Given the description of an element on the screen output the (x, y) to click on. 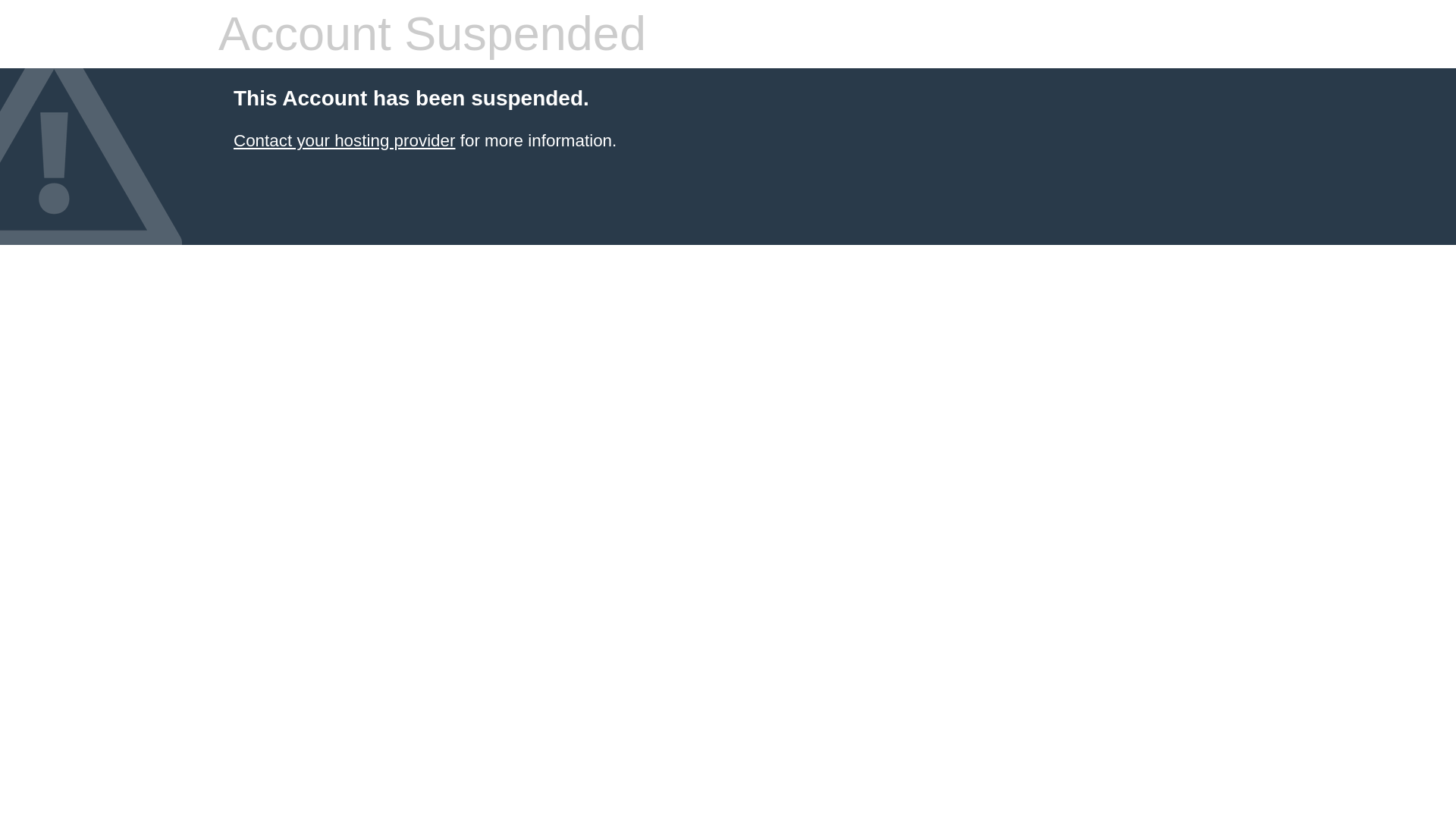
Contact your hosting provider (343, 140)
